Given the description of an element on the screen output the (x, y) to click on. 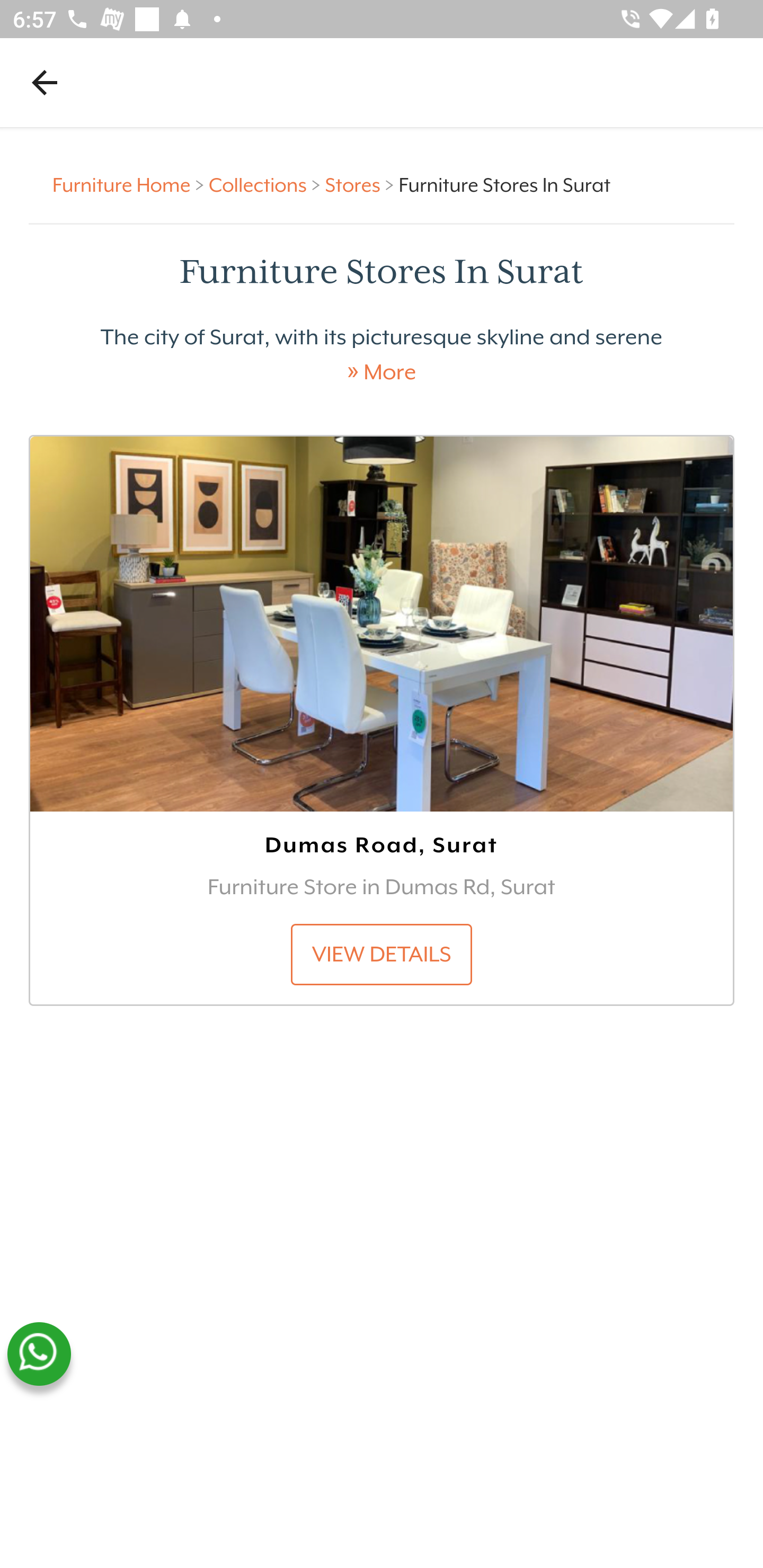
Navigate up (44, 82)
Furniture Home >  Furniture Home  >  (130, 184)
Collections >  Collections  >  (266, 184)
Stores >  Stores  >  (361, 184)
» More (381, 372)
VIEW DETAILS (381, 953)
whatsapp (38, 1353)
